Given the description of an element on the screen output the (x, y) to click on. 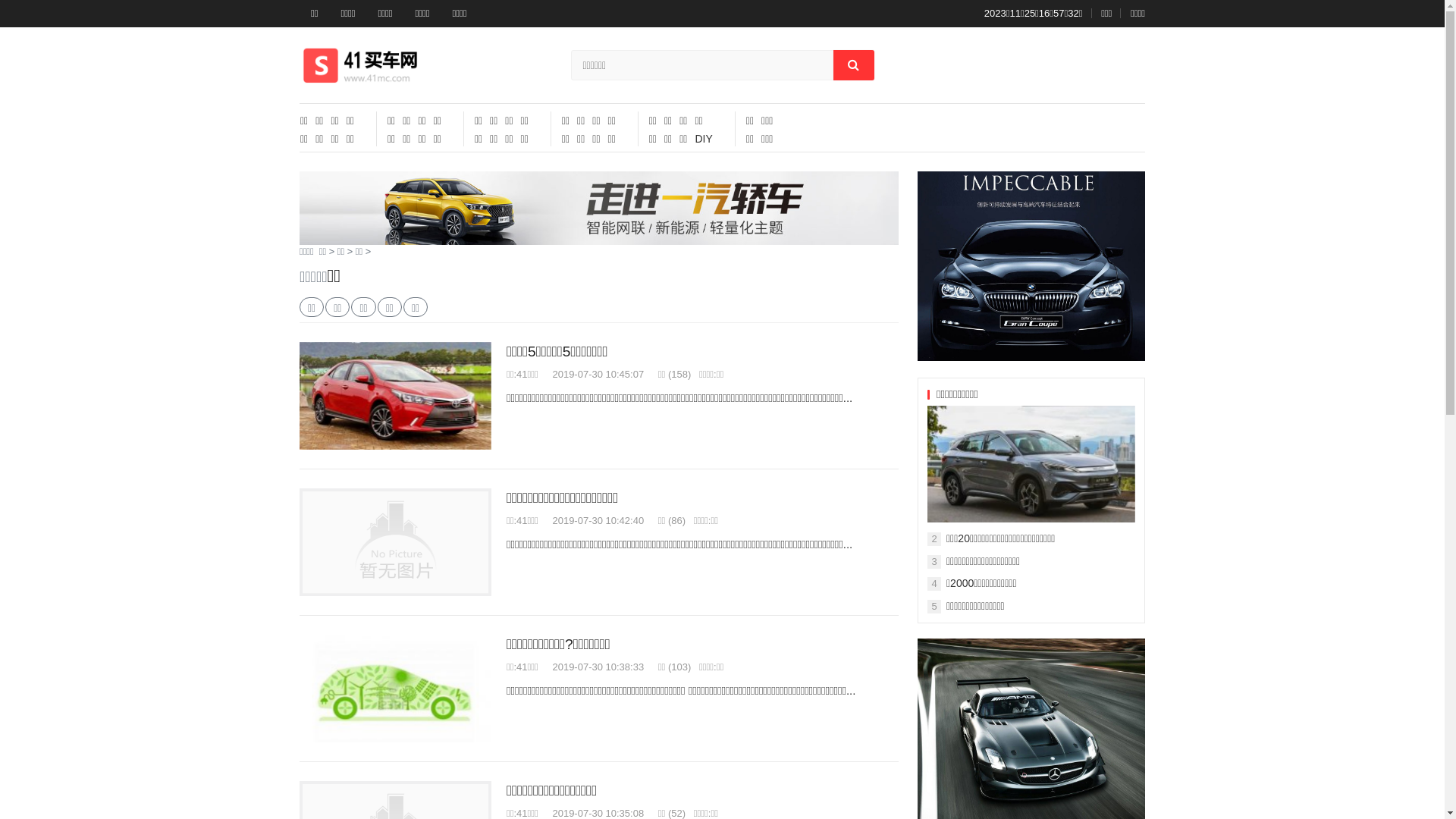
DIY Element type: text (702, 138)
